Given the description of an element on the screen output the (x, y) to click on. 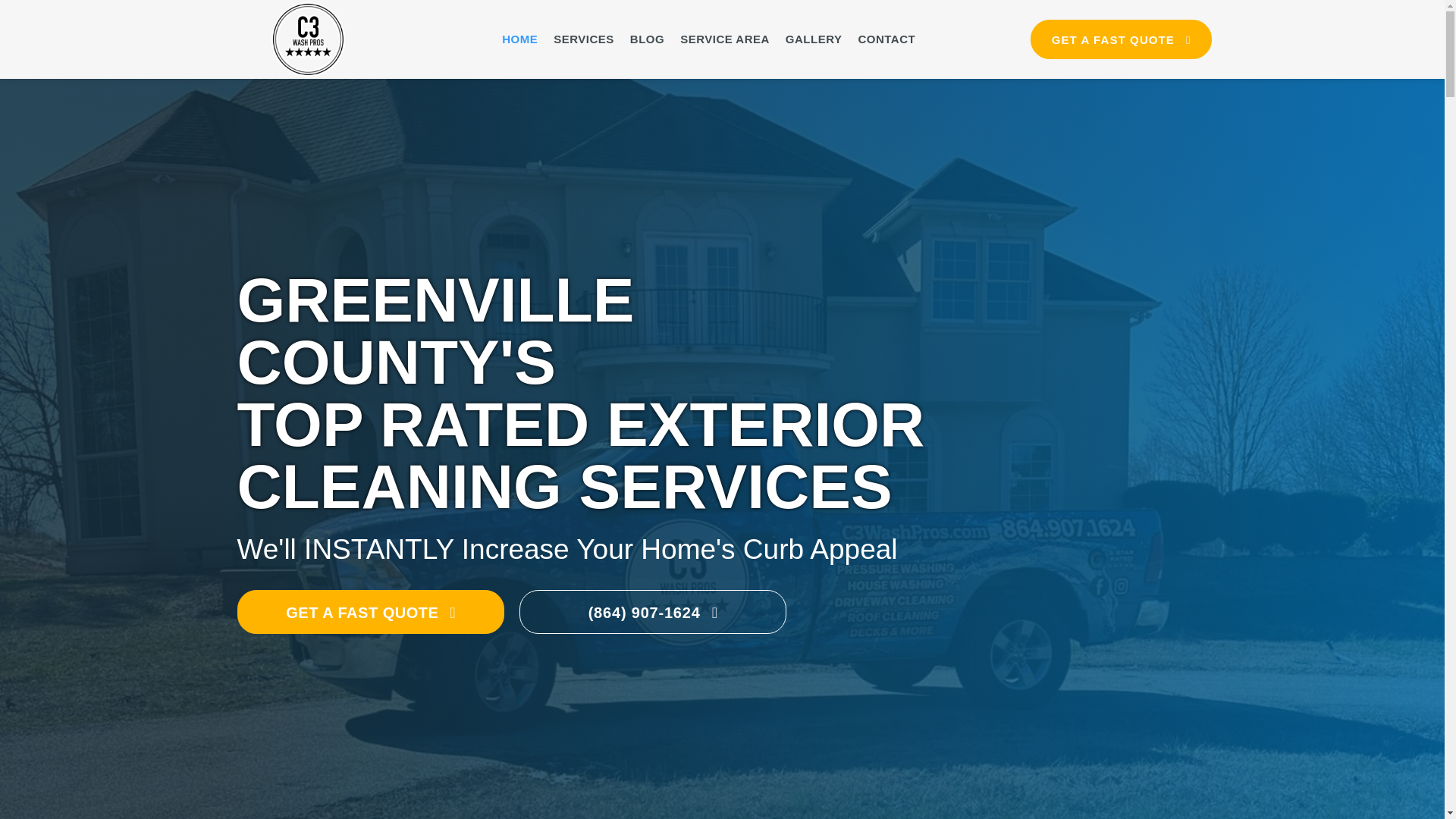
GET A FAST QUOTE (1120, 38)
CONTACT (886, 39)
GALLERY (814, 39)
SERVICES (583, 39)
HOME (519, 39)
BLOG (646, 39)
SERVICE AREA (724, 39)
GET A FAST QUOTE (369, 611)
